Given the description of an element on the screen output the (x, y) to click on. 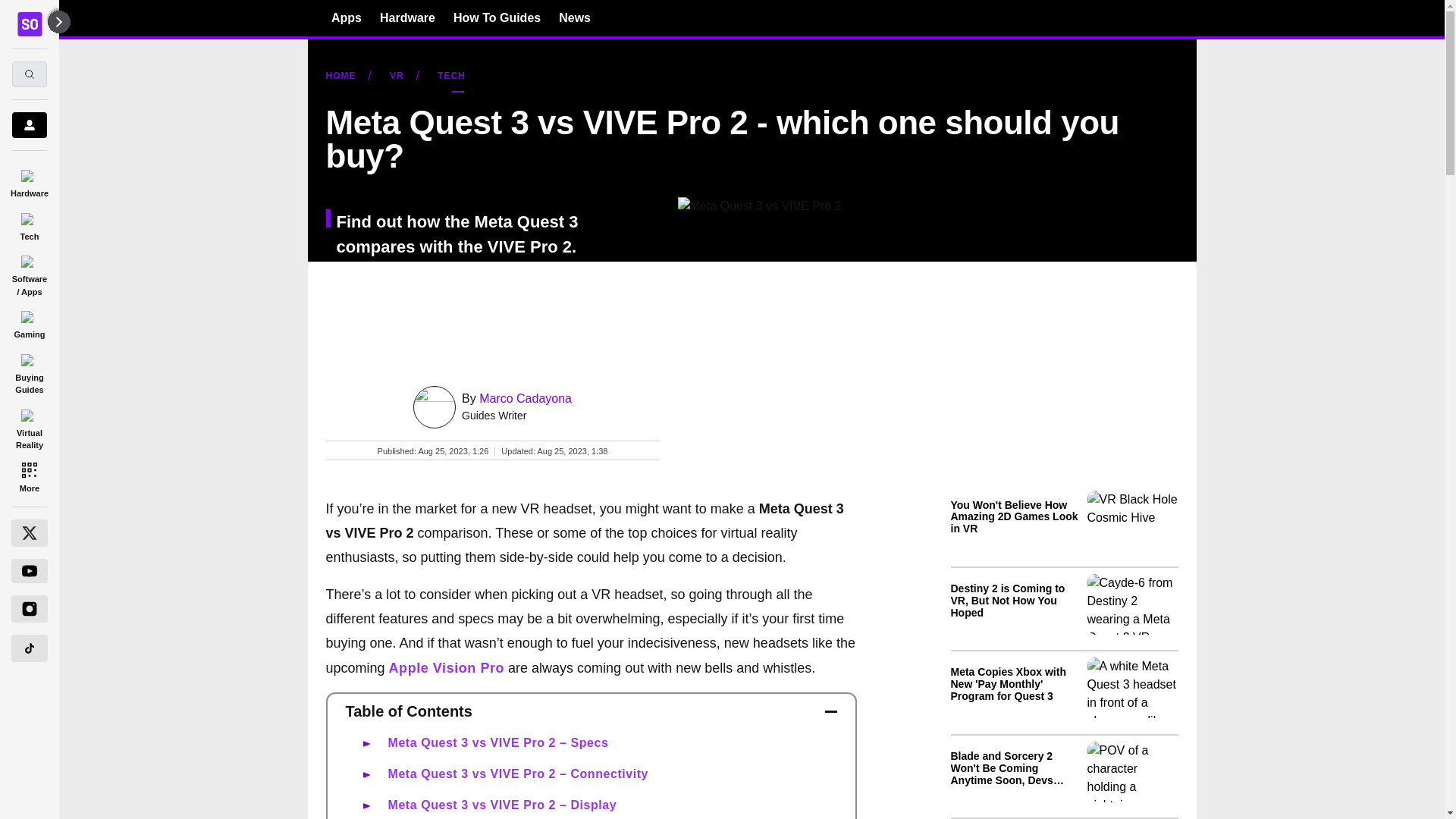
Apps (346, 18)
How To Guides (496, 18)
Gaming (28, 322)
News (575, 18)
Hardware (28, 180)
Hardware (407, 18)
More (28, 476)
Tech (28, 224)
